Given the description of an element on the screen output the (x, y) to click on. 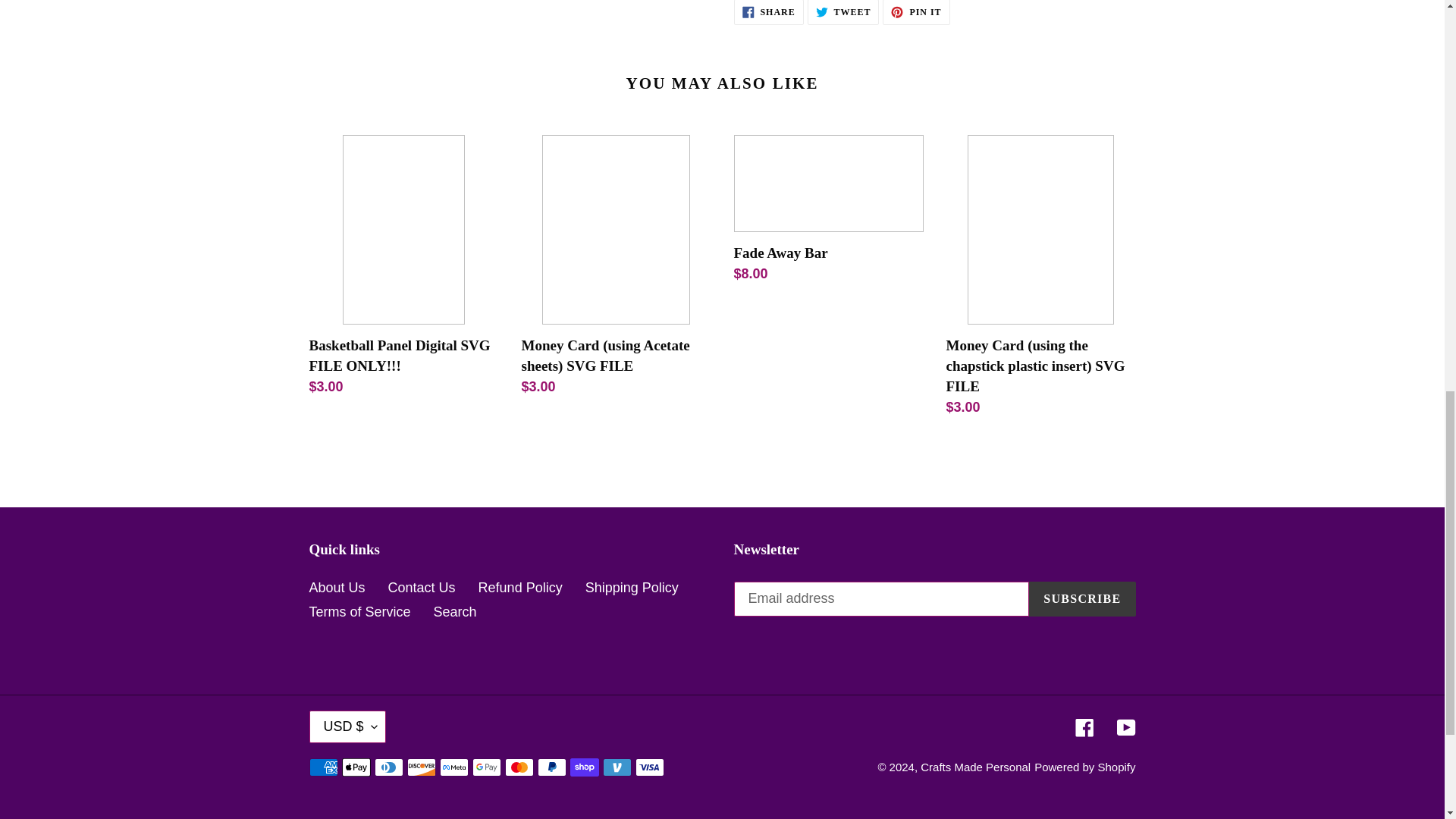
Fade Away Bar (828, 212)
Basketball Panel Digital SVG FILE ONLY!!! (768, 12)
